Given the description of an element on the screen output the (x, y) to click on. 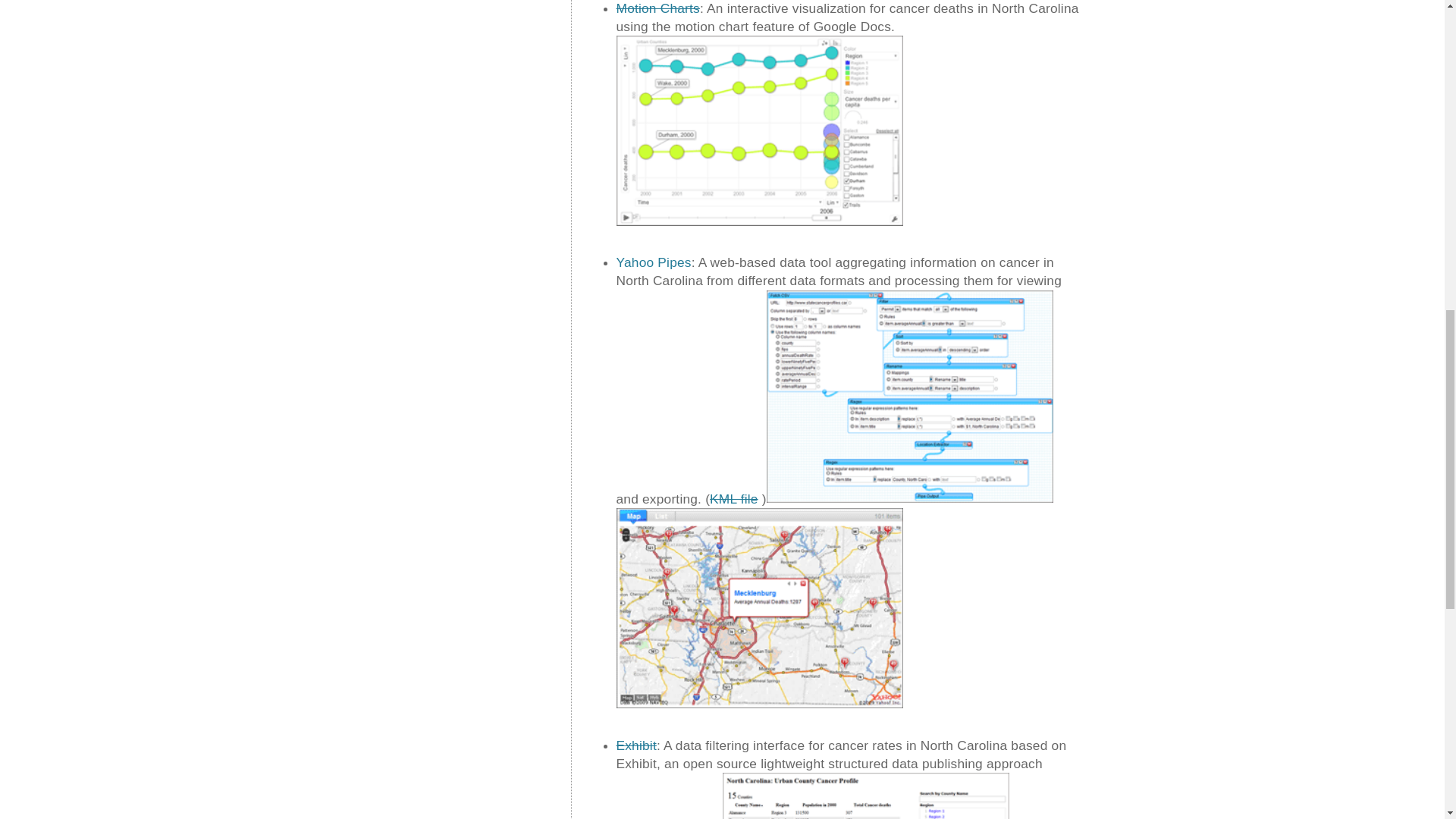
Motion Charts (758, 131)
Exhibit (865, 796)
Yahoo Pipes (909, 396)
Yahoo Map View (758, 608)
